Given the description of an element on the screen output the (x, y) to click on. 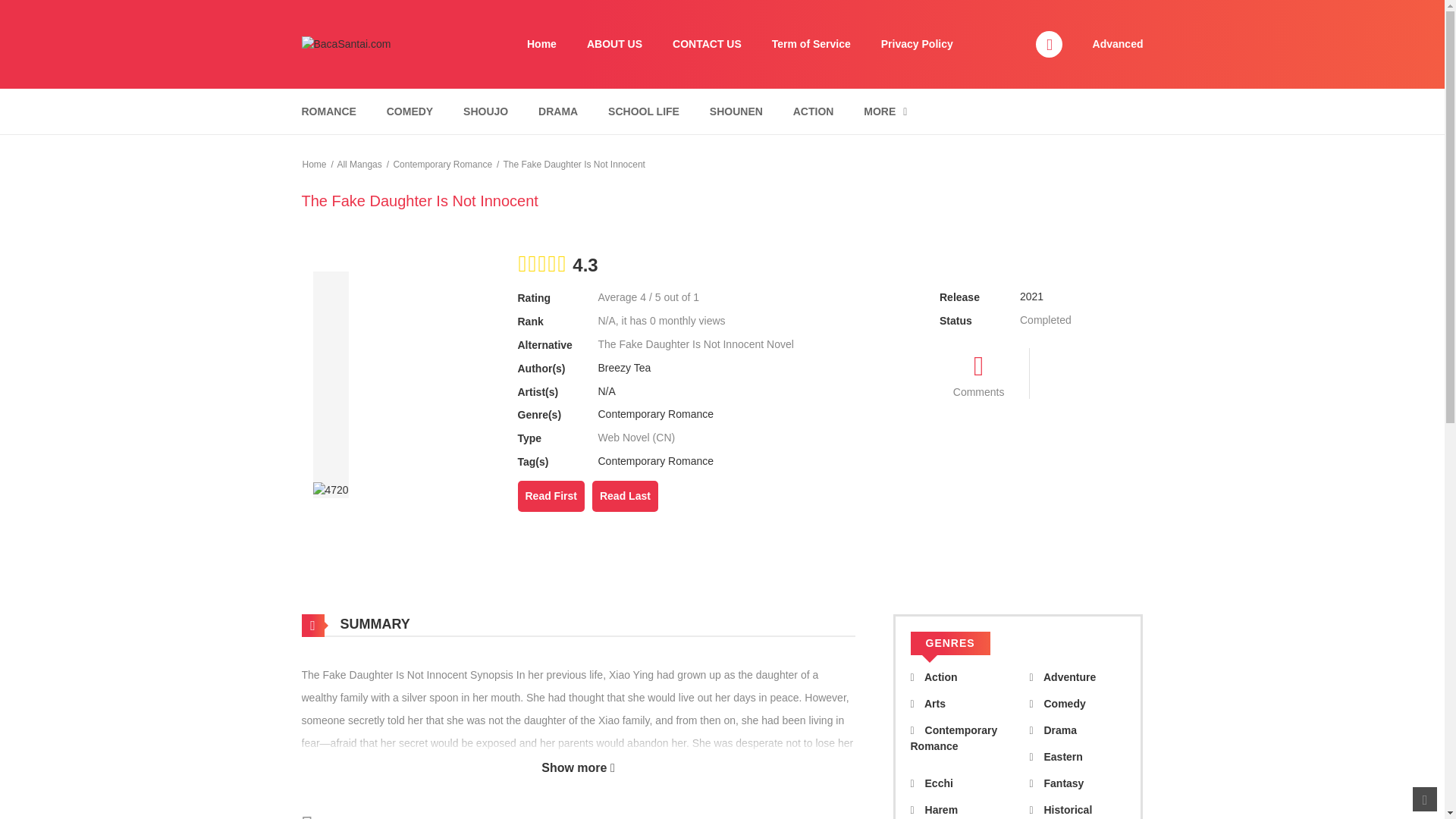
MORE (885, 111)
Home (542, 44)
Advanced (1117, 43)
Privacy Policy (917, 44)
SHOUJO (485, 111)
SCHOOL LIFE (643, 111)
CONTACT US (707, 44)
ABOUT US (615, 44)
ROMANCE (328, 111)
Term of Service (811, 44)
